Given the description of an element on the screen output the (x, y) to click on. 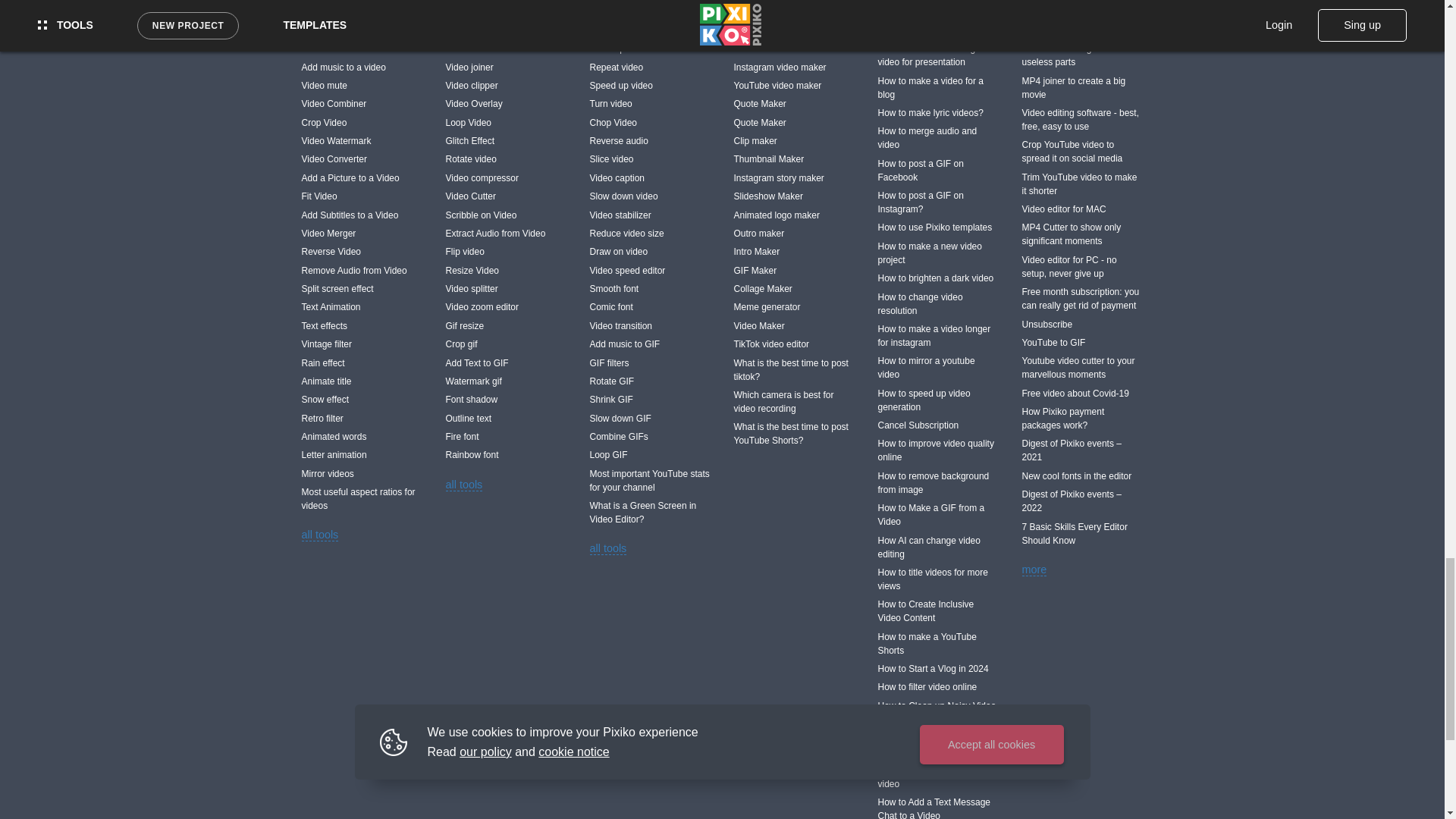
Remove Audio from Video (362, 270)
Add a Picture to a Video (362, 177)
Add text to a video (362, 48)
Video Watermark (362, 140)
Video Merger (362, 233)
Video Converter (362, 158)
Add music to a video (362, 66)
TOOLS (320, 18)
Reverse Video (362, 251)
Video Combiner (362, 104)
